Given the description of an element on the screen output the (x, y) to click on. 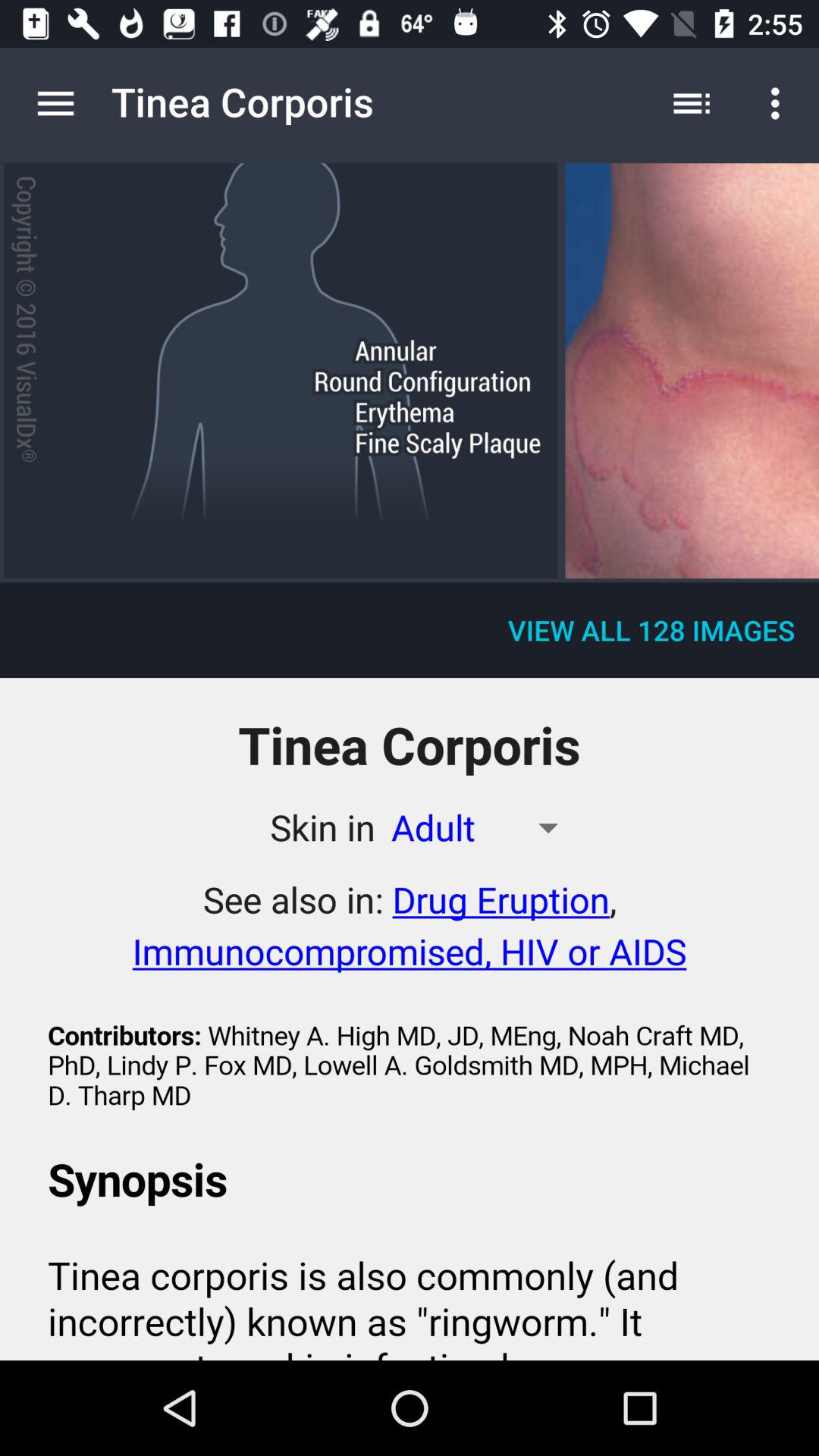
enlarge image (692, 370)
